Given the description of an element on the screen output the (x, y) to click on. 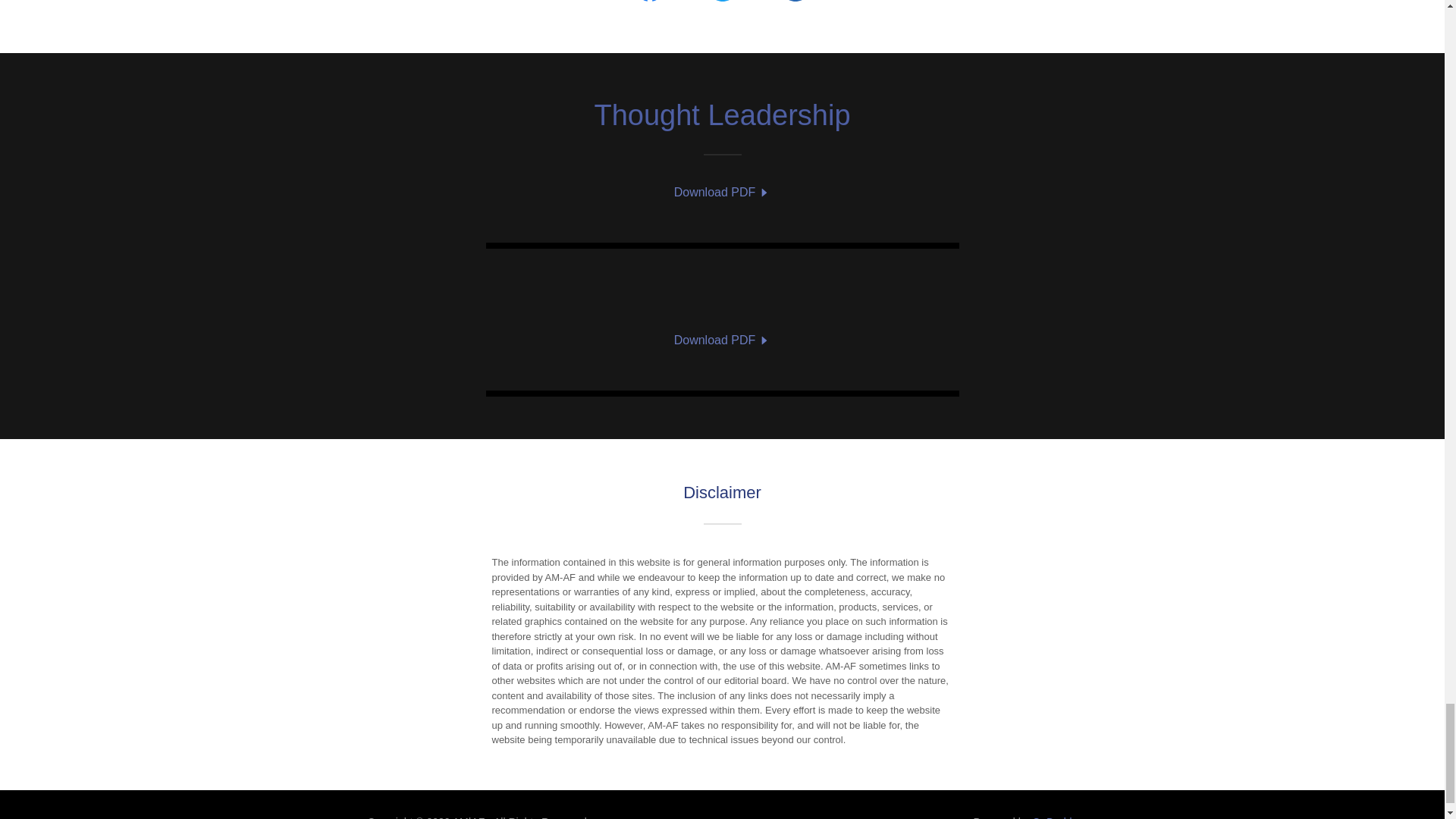
Download PDF (722, 192)
GoDaddy (1054, 817)
Download PDF (722, 340)
